Given the description of an element on the screen output the (x, y) to click on. 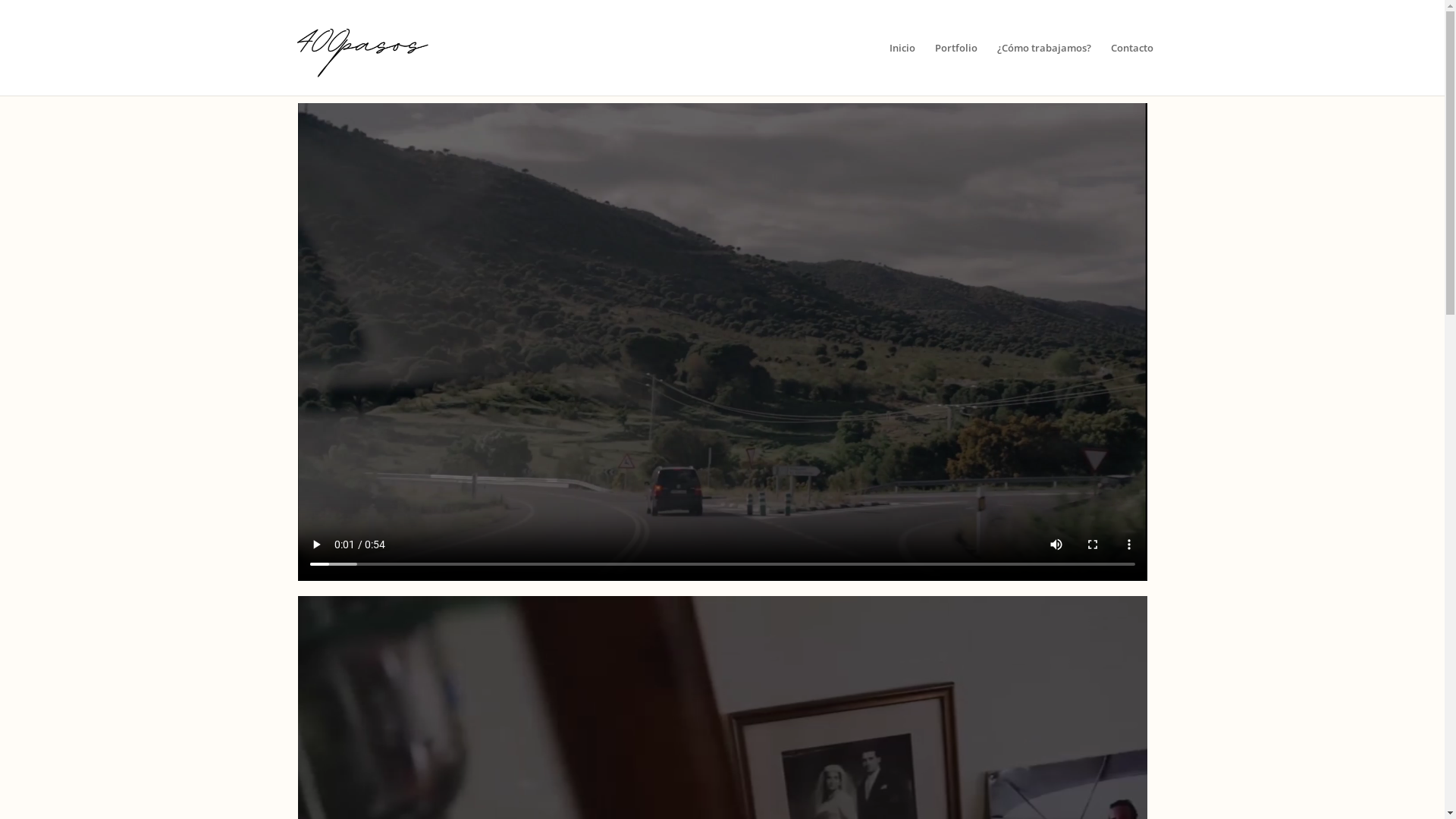
Portfolio Element type: text (956, 68)
Contacto Element type: text (1131, 68)
Inicio Element type: text (902, 68)
